Given the description of an element on the screen output the (x, y) to click on. 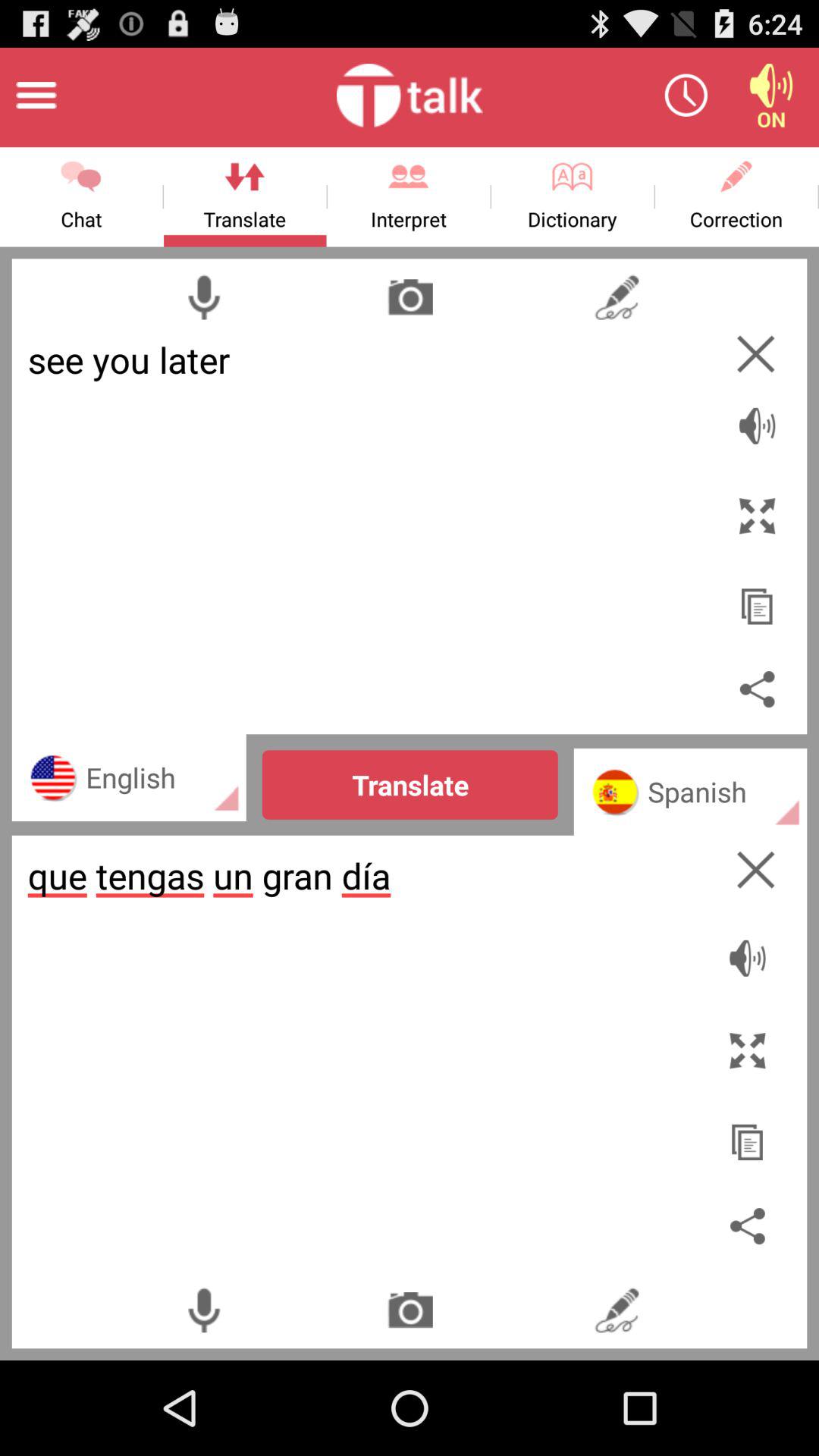
share translation (750, 1225)
